Given the description of an element on the screen output the (x, y) to click on. 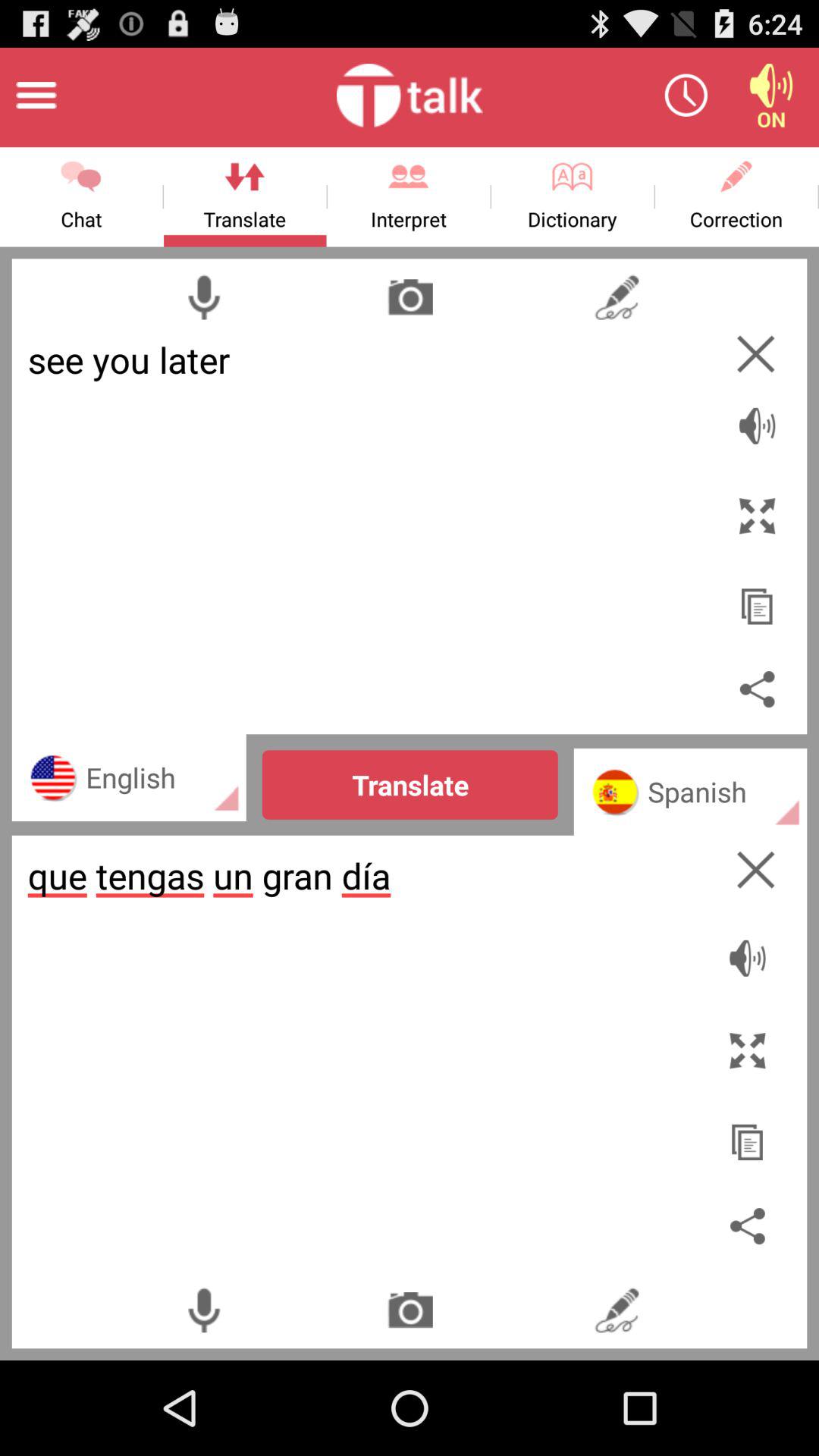
share translation (750, 1225)
